Given the description of an element on the screen output the (x, y) to click on. 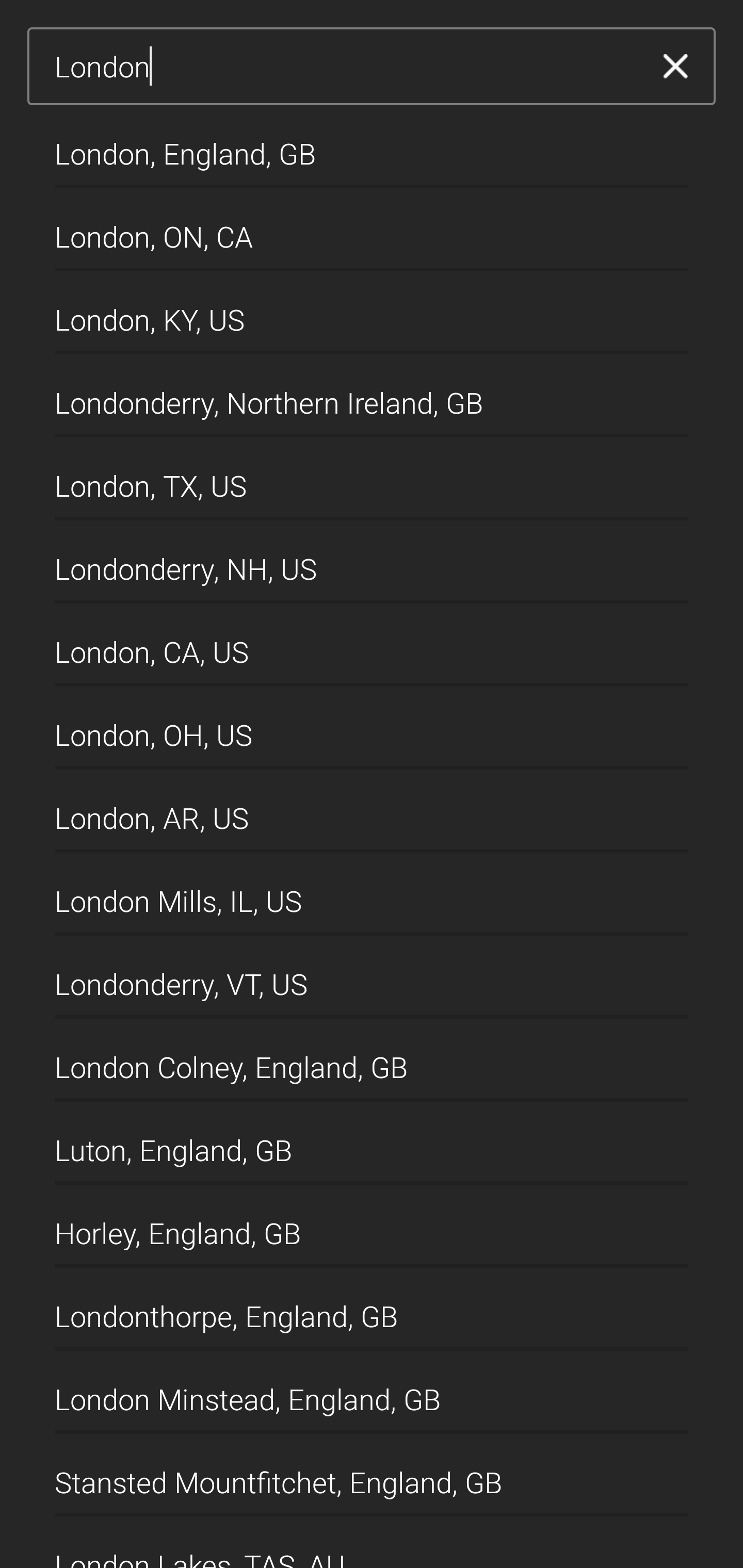
London (345, 66)
London, England, GB (371, 146)
London, ON, CA (371, 229)
London, KY, US (371, 312)
Londonderry, Northern Ireland, GB (371, 395)
London, TX, US (371, 478)
Londonderry, NH, US (371, 561)
London, CA, US (371, 644)
London, OH, US (371, 727)
London, AR, US (371, 810)
London Mills, IL, US (371, 894)
Londonderry, VT, US (371, 977)
London Colney, England, GB (371, 1060)
Luton, England, GB (371, 1143)
Horley, England, GB (371, 1226)
Londonthorpe, England, GB (371, 1309)
London Minstead, England, GB (371, 1392)
Stansted Mountfitchet, England, GB (371, 1474)
